Given the description of an element on the screen output the (x, y) to click on. 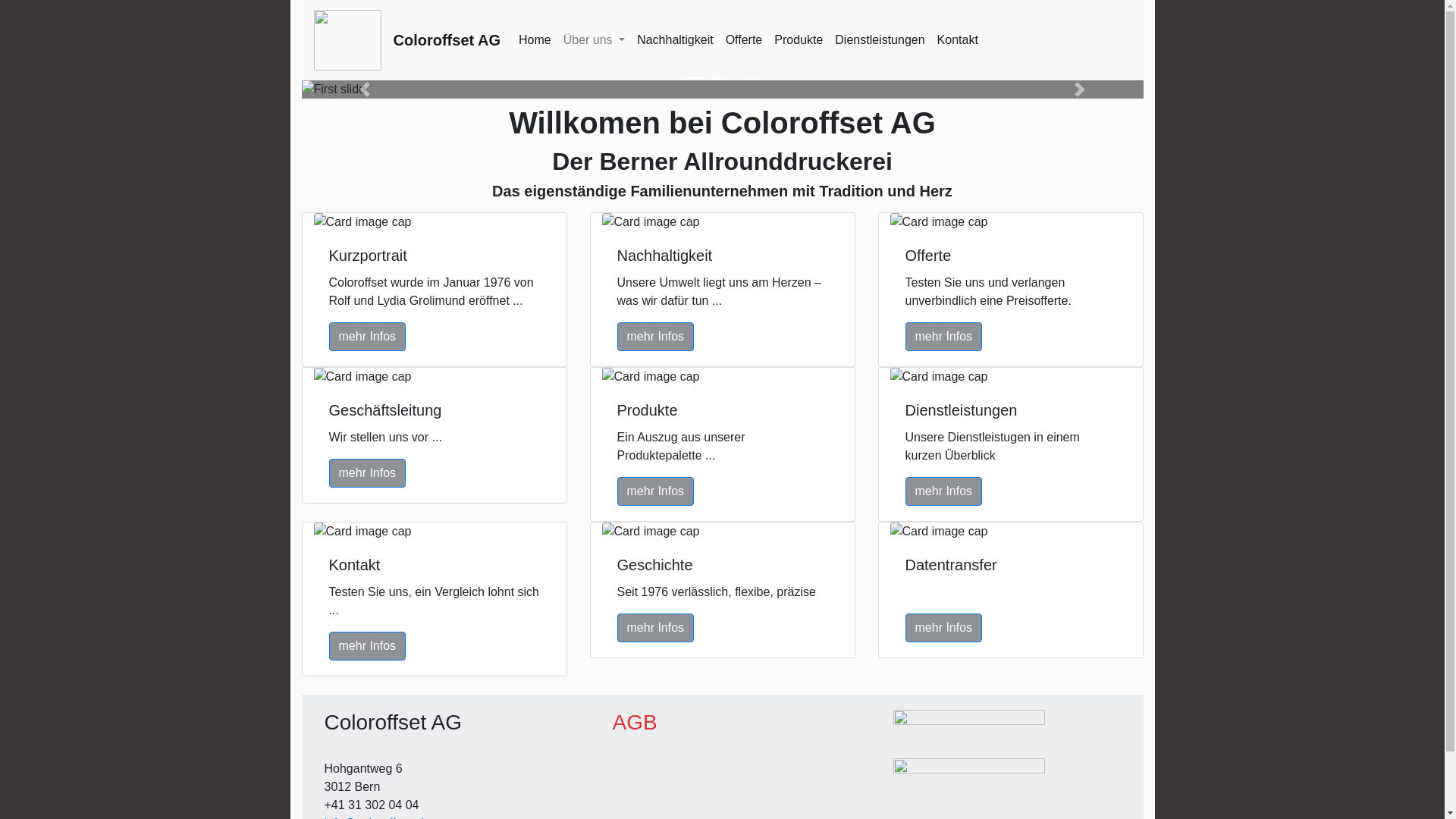
Coloroffset AG Element type: text (445, 40)
Next Element type: text (1079, 89)
Home
(current) Element type: text (534, 40)
Nachhaltigkeit
(current) Element type: text (674, 40)
mehr Infos Element type: text (943, 490)
mehr Infos Element type: text (367, 472)
Offerte
(current) Element type: text (743, 40)
mehr Infos Element type: text (367, 336)
Dienstleistungen
(current) Element type: text (879, 40)
AGB Element type: text (634, 722)
mehr Infos Element type: text (655, 336)
Kontakt
(current) Element type: text (957, 40)
mehr Infos Element type: text (943, 336)
mehr Infos Element type: text (655, 627)
mehr Infos Element type: text (367, 645)
mehr Infos Element type: text (655, 490)
Previous Element type: text (364, 89)
mehr Infos Element type: text (943, 627)
Produkte
(current) Element type: text (798, 40)
